Given the description of an element on the screen output the (x, y) to click on. 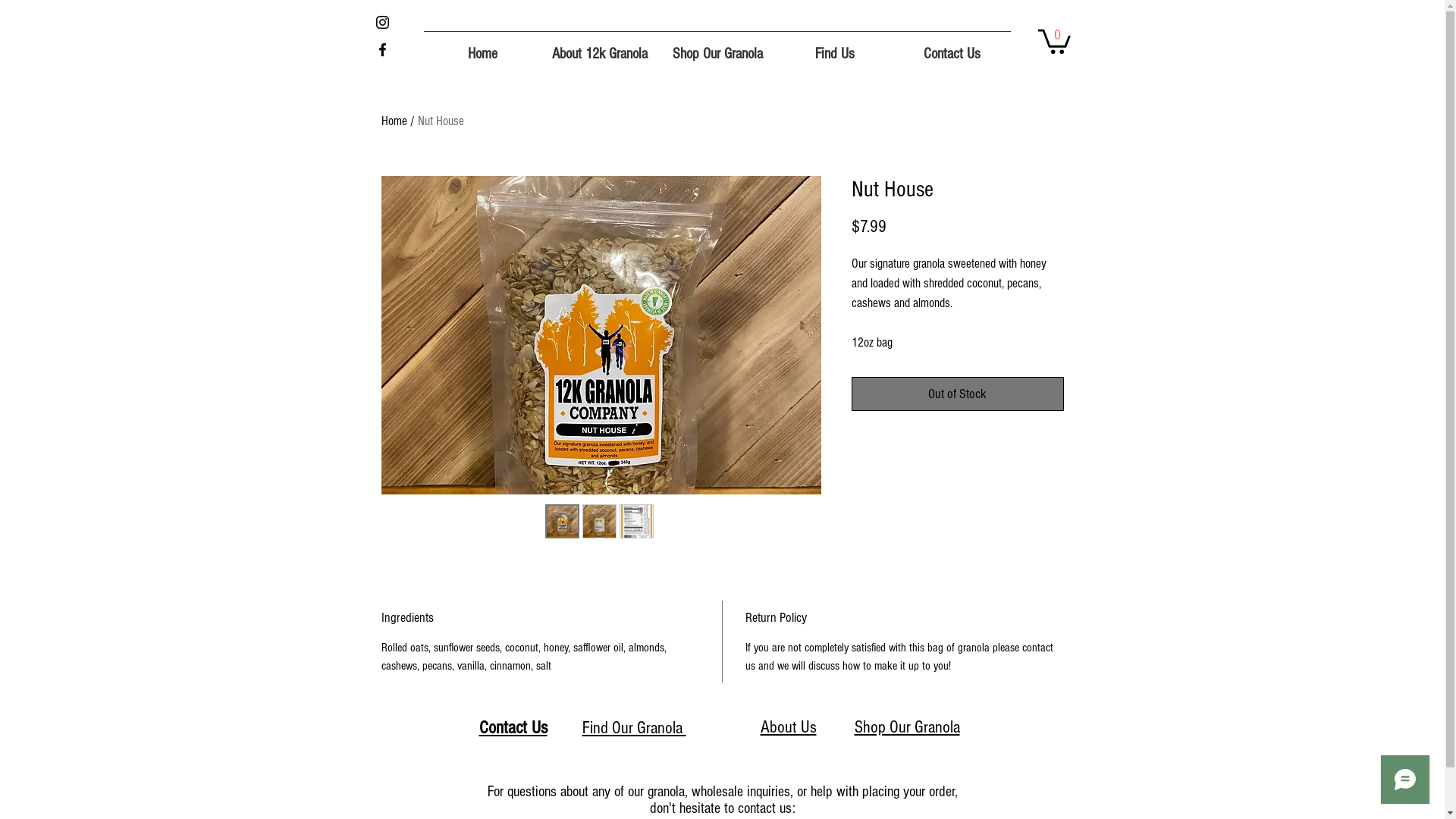
Shop Our Granola Element type: text (716, 46)
Nut House Element type: text (440, 120)
Find Us Element type: text (835, 46)
         Element type: text (562, 727)
About Us Element type: text (787, 727)
Contact Us Element type: text (513, 727)
Contact Us Element type: text (951, 46)
Home Element type: text (393, 120)
Shop Our Granola Element type: text (906, 727)
Home Element type: text (481, 46)
           Element type: text (834, 727)
Out of Stock Element type: text (956, 393)
  Element type: text (579, 727)
0 Element type: text (1053, 39)
About 12k Granola Element type: text (599, 46)
Find Our Granola  Element type: text (634, 727)
